Given the description of an element on the screen output the (x, y) to click on. 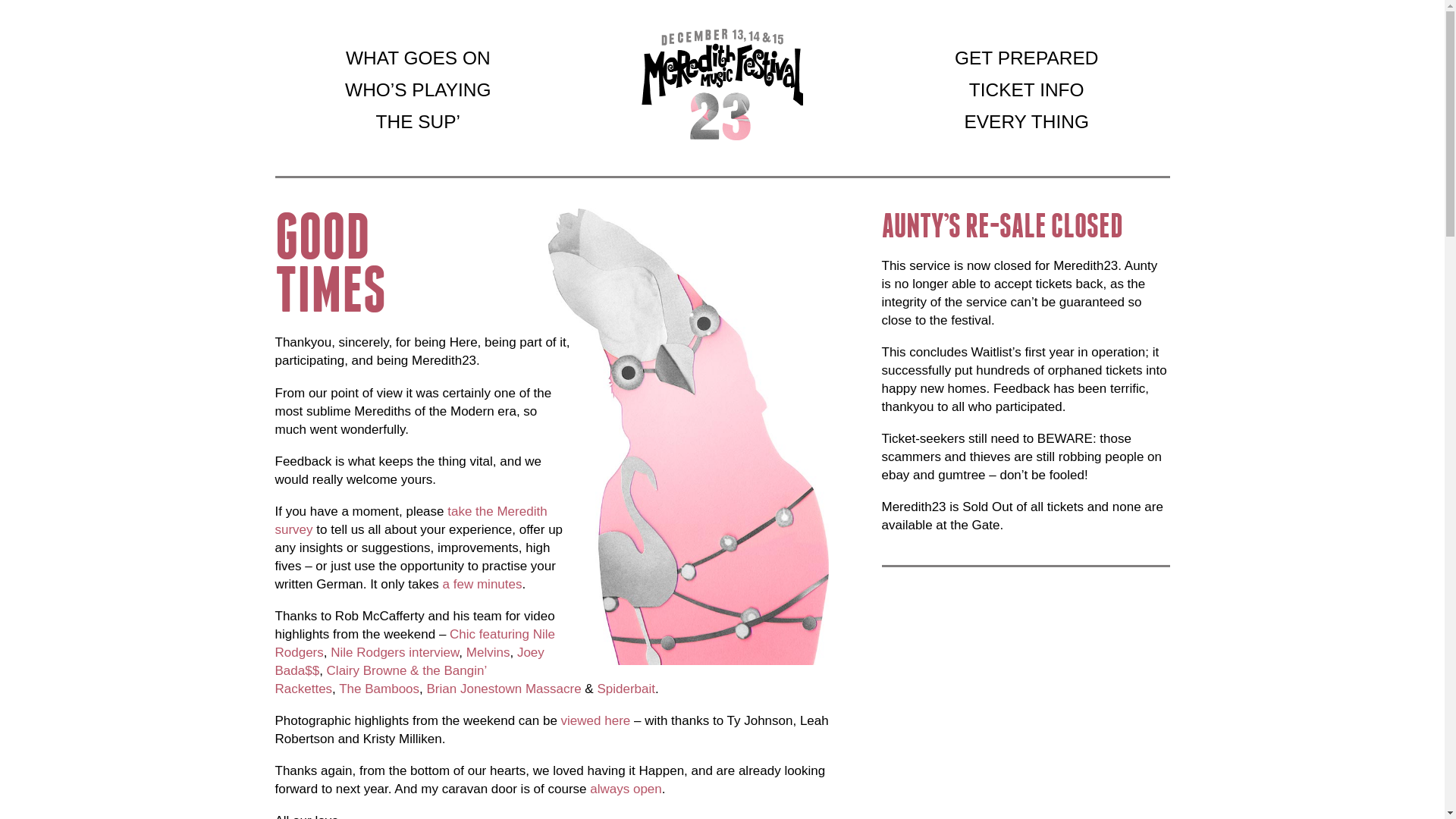
Melvins Element type: text (488, 652)
Joey Bada$$ Element type: text (408, 661)
The Bamboos Element type: text (378, 688)
take the Meredith survey Element type: text (410, 520)
GET PREPARED Element type: text (1026, 58)
EVERY THING Element type: text (1025, 121)
always open Element type: text (625, 788)
Spiderbait Element type: text (625, 688)
a few minutes Element type: text (482, 584)
Chic featuring Nile Rodgers Element type: text (414, 643)
viewed here Element type: text (595, 720)
WHAT GOES ON Element type: text (417, 58)
Brian Jonestown Massacre Element type: text (503, 688)
MEREDITH MUSIC FESTIVAL 23 Element type: text (722, 84)
TICKET INFO Element type: text (1026, 90)
Nile Rodgers interview Element type: text (394, 652)
